Given the description of an element on the screen output the (x, y) to click on. 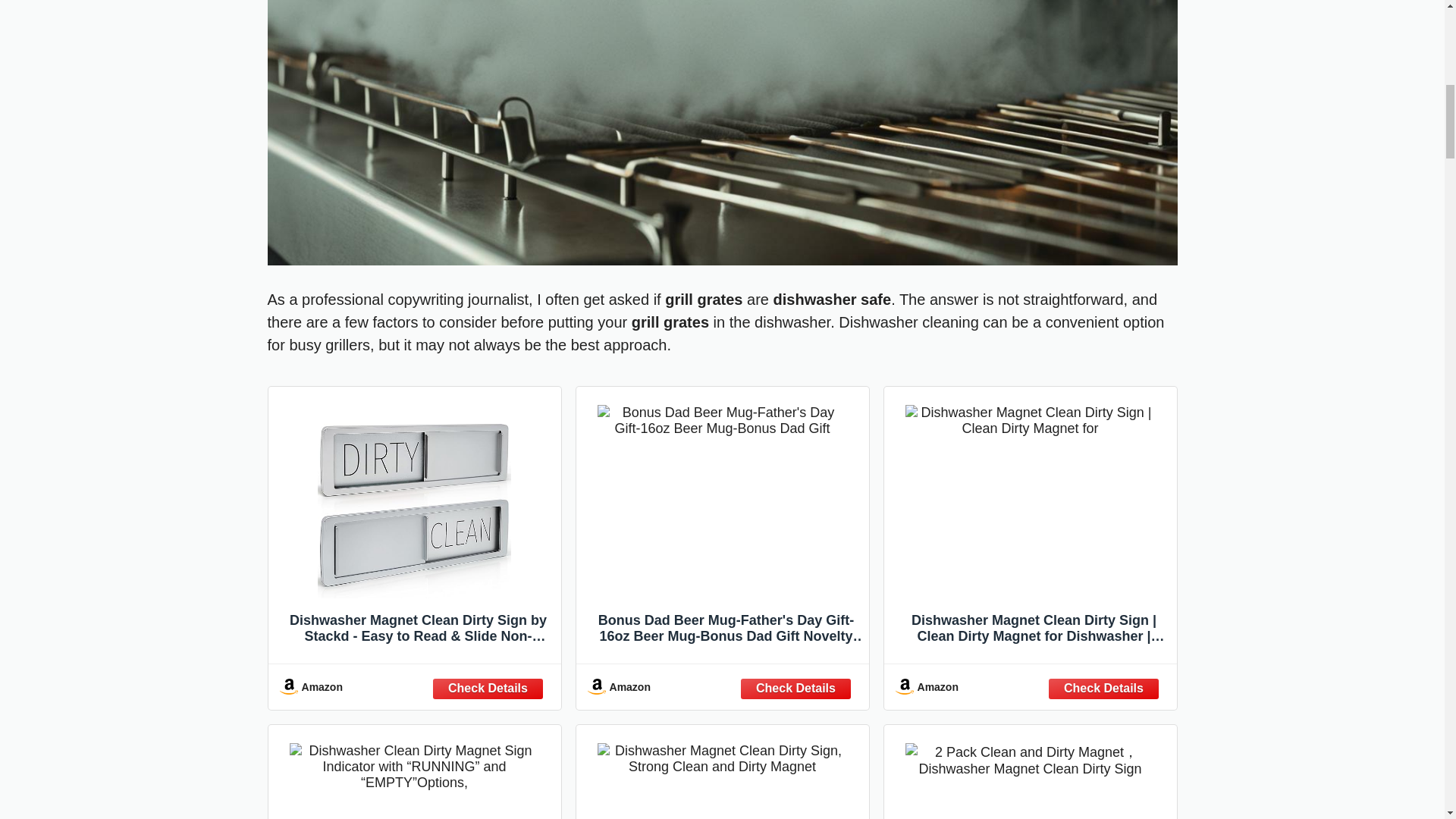
Amazon (413, 686)
Amazon (1029, 686)
Amazon (721, 686)
